Given the description of an element on the screen output the (x, y) to click on. 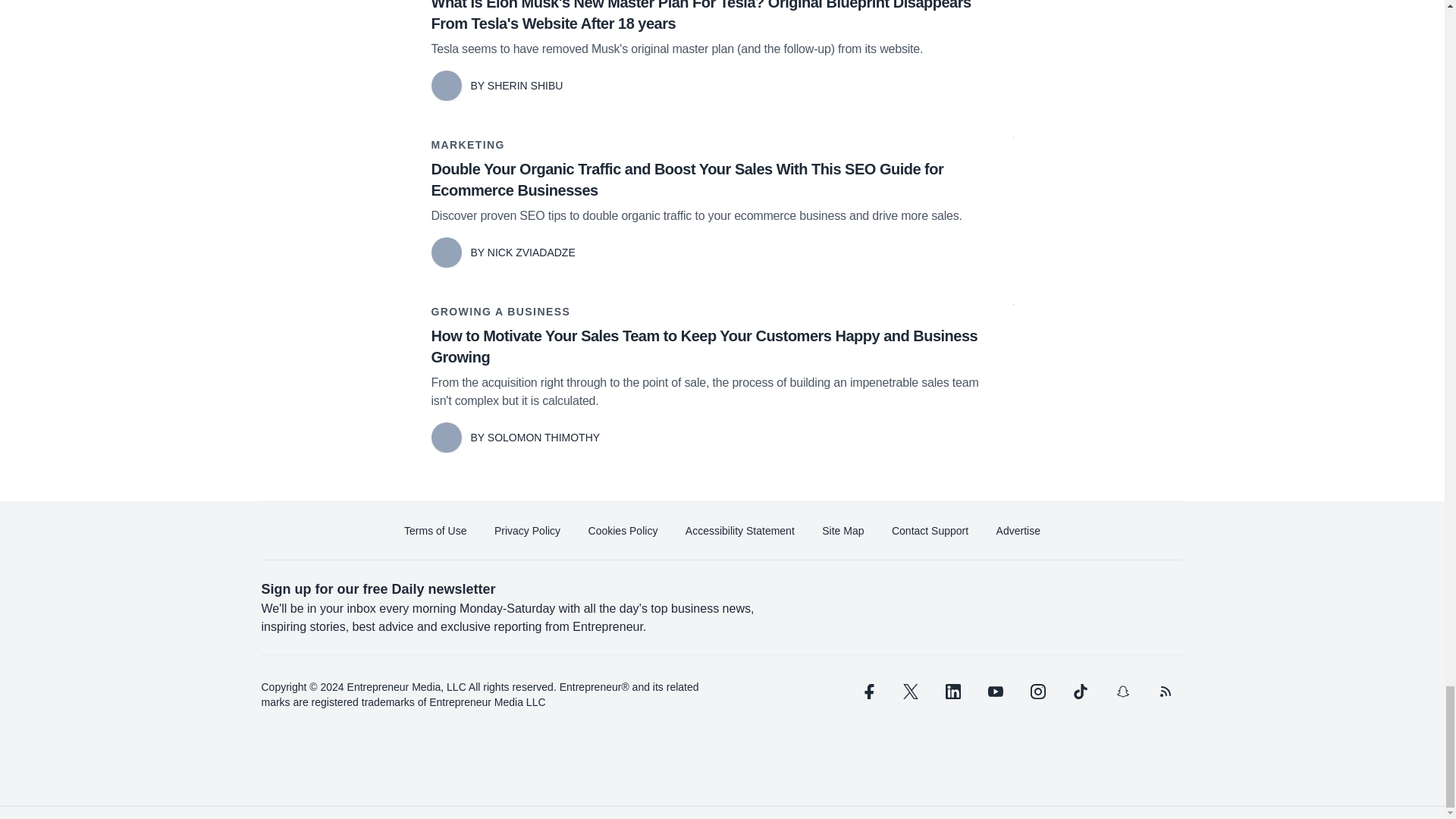
tiktok (1079, 691)
youtube (994, 691)
instagram (1037, 691)
twitter (909, 691)
snapchat (1121, 691)
linkedin (952, 691)
facebook (866, 691)
rss (1164, 691)
